Given the description of an element on the screen output the (x, y) to click on. 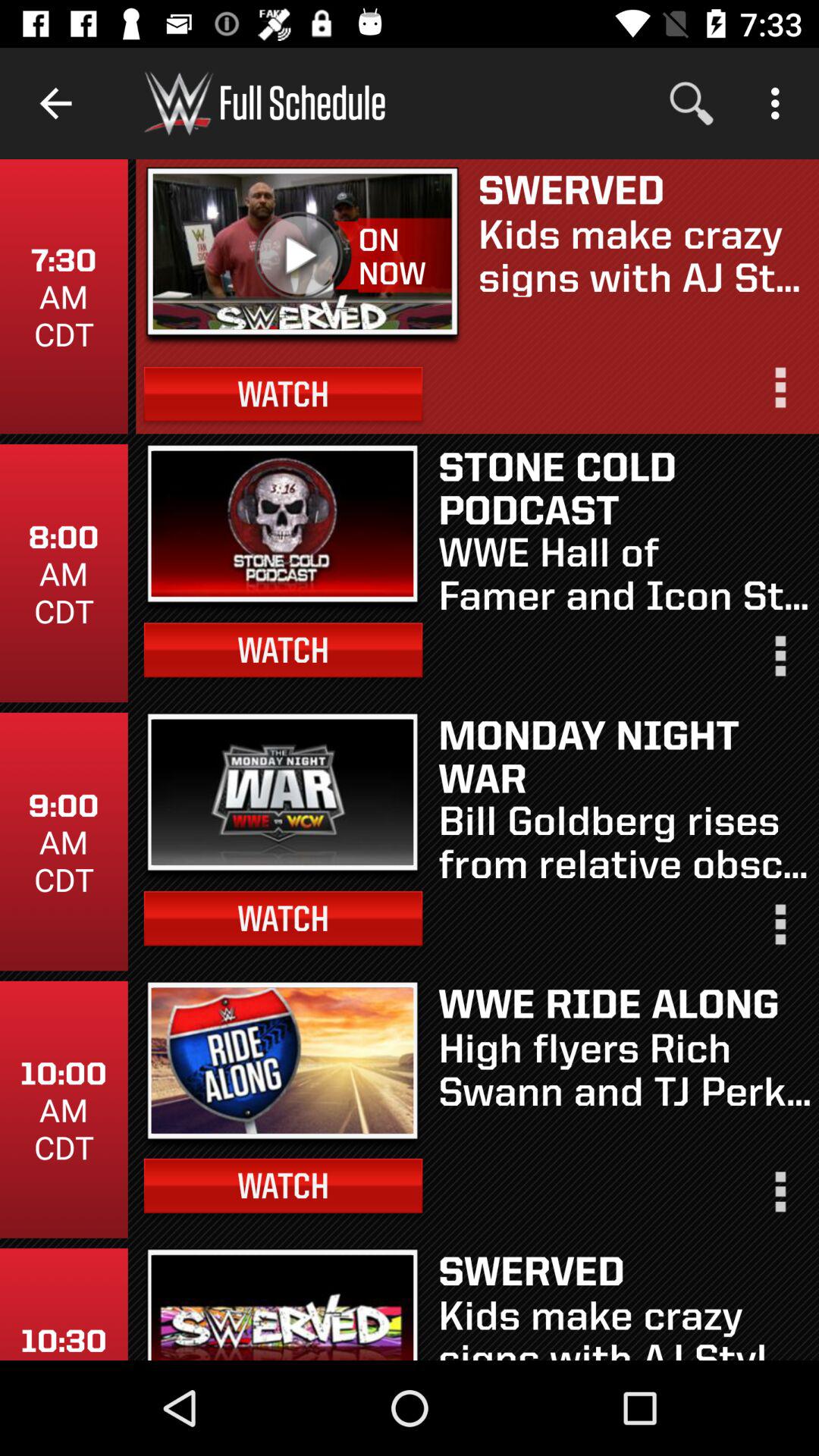
additional options (779, 930)
